Given the description of an element on the screen output the (x, y) to click on. 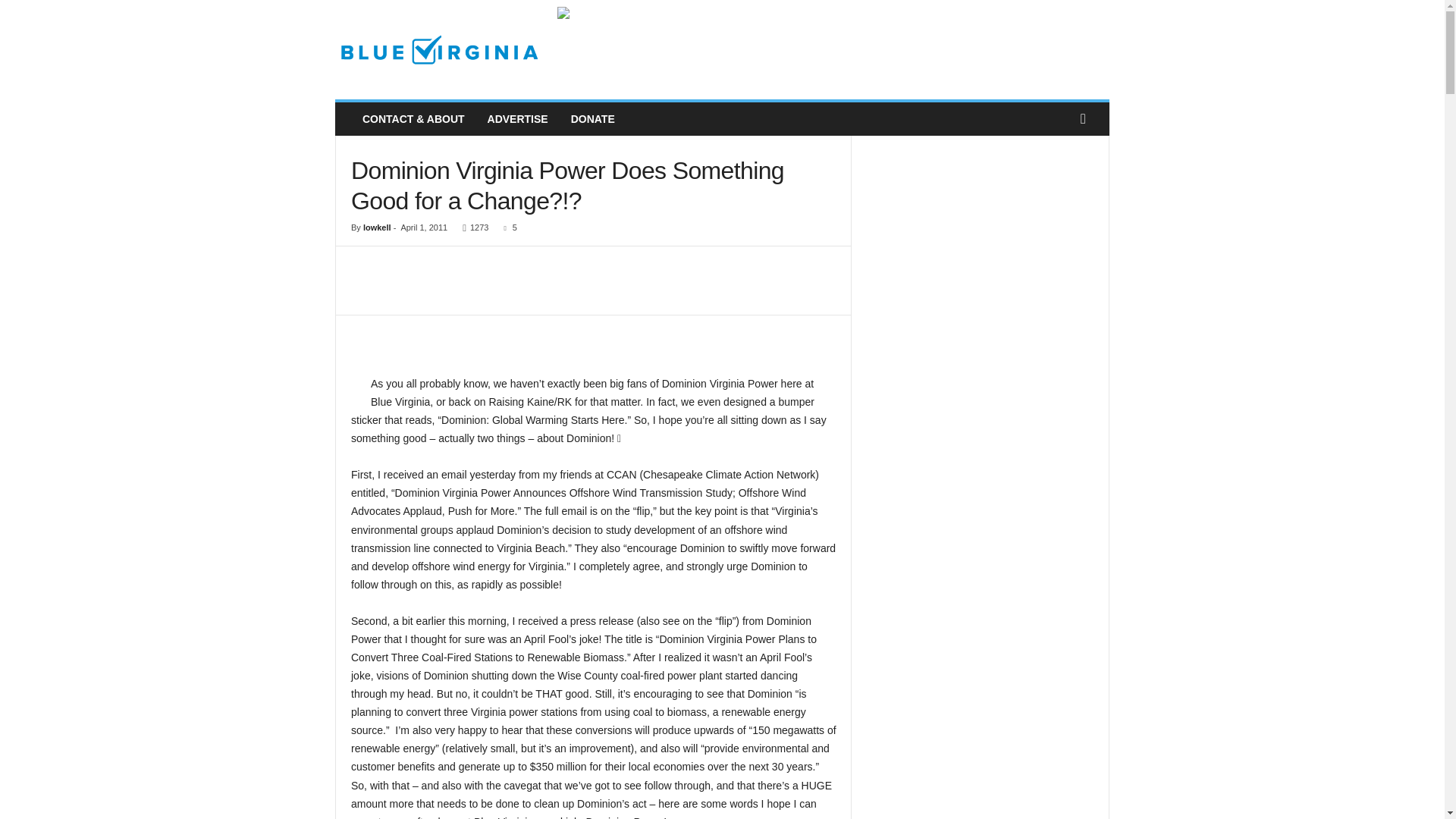
DONATE (592, 118)
5 (506, 226)
lowkell (376, 226)
ADVERTISE (517, 118)
Blue Virginia (437, 49)
